Given the description of an element on the screen output the (x, y) to click on. 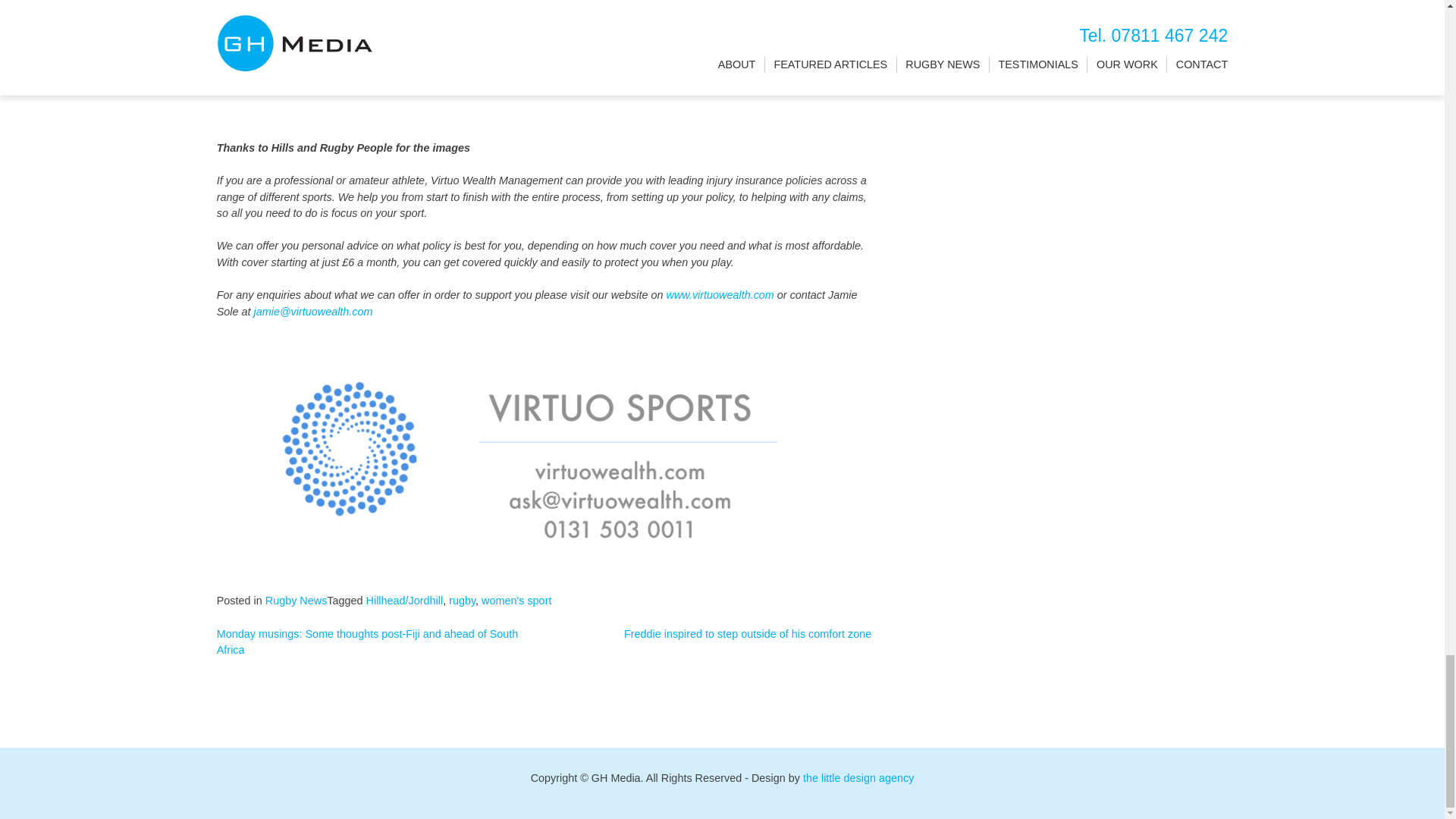
rugby (462, 600)
the little design agency (858, 777)
women's sport (516, 600)
Freddie inspired to step outside of his comfort zone (747, 633)
Rugby News (295, 600)
www.virtuowealth.com (719, 295)
